Given the description of an element on the screen output the (x, y) to click on. 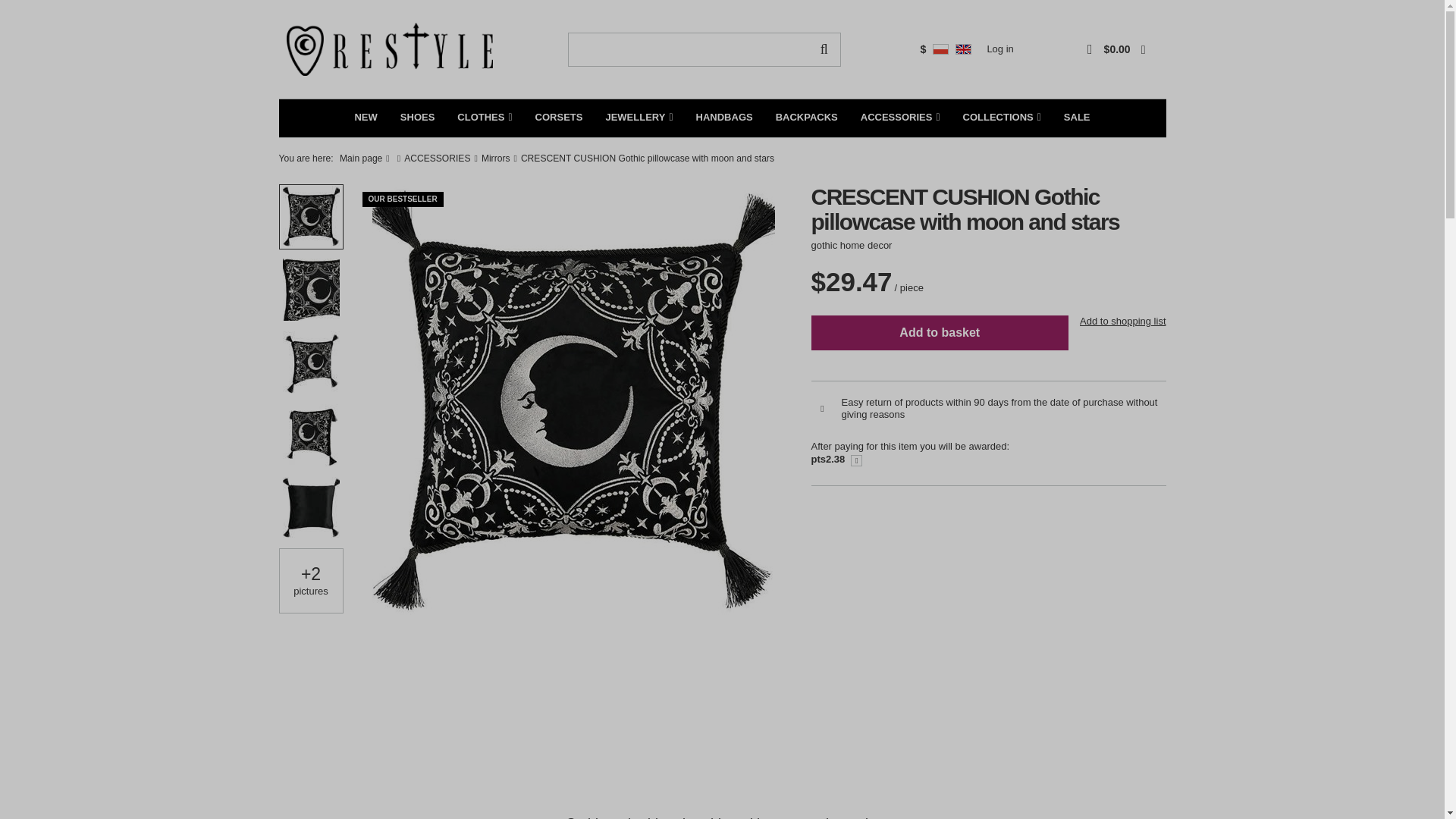
HANDBAGS (724, 118)
NEW (365, 118)
JEWELLERY (639, 118)
ACCESSORIES (900, 118)
CORSETS (559, 118)
BACKPACKS (806, 118)
CORSETS (559, 118)
BACKPACKS (806, 118)
Log in (1000, 49)
SALE (1077, 118)
SHOES (417, 118)
ACCESSORIES (900, 118)
CLOTHES (483, 118)
CLOTHES (483, 118)
NEW (365, 118)
